Given the description of an element on the screen output the (x, y) to click on. 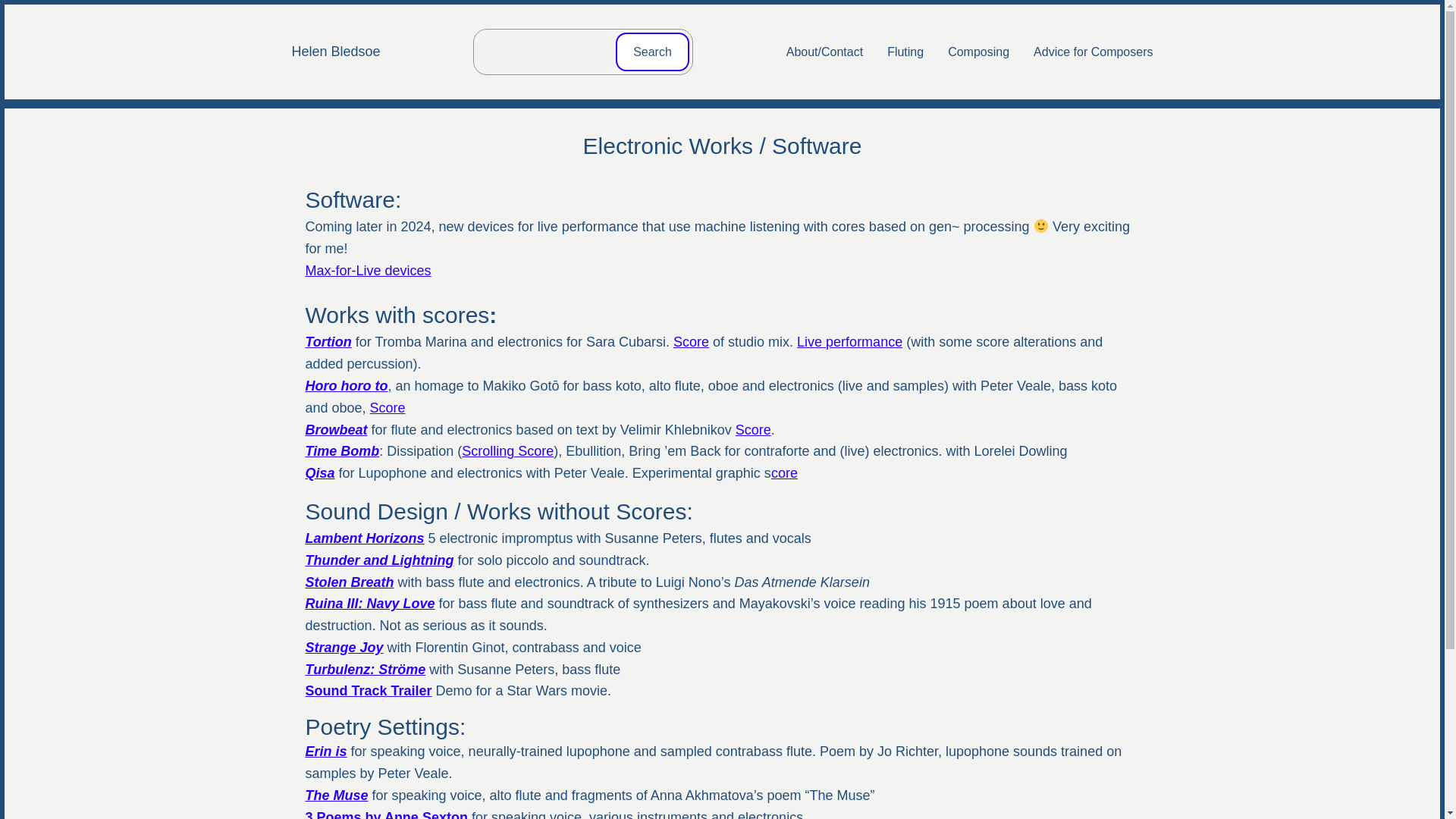
Max-for-Live devices (367, 270)
Composing (978, 52)
The Muse (336, 795)
Helen Bledsoe (335, 51)
Advice for Composers (1093, 52)
Score (387, 407)
Score (753, 429)
Live performance (849, 341)
Qisa (319, 473)
Browbeat (335, 429)
